Given the description of an element on the screen output the (x, y) to click on. 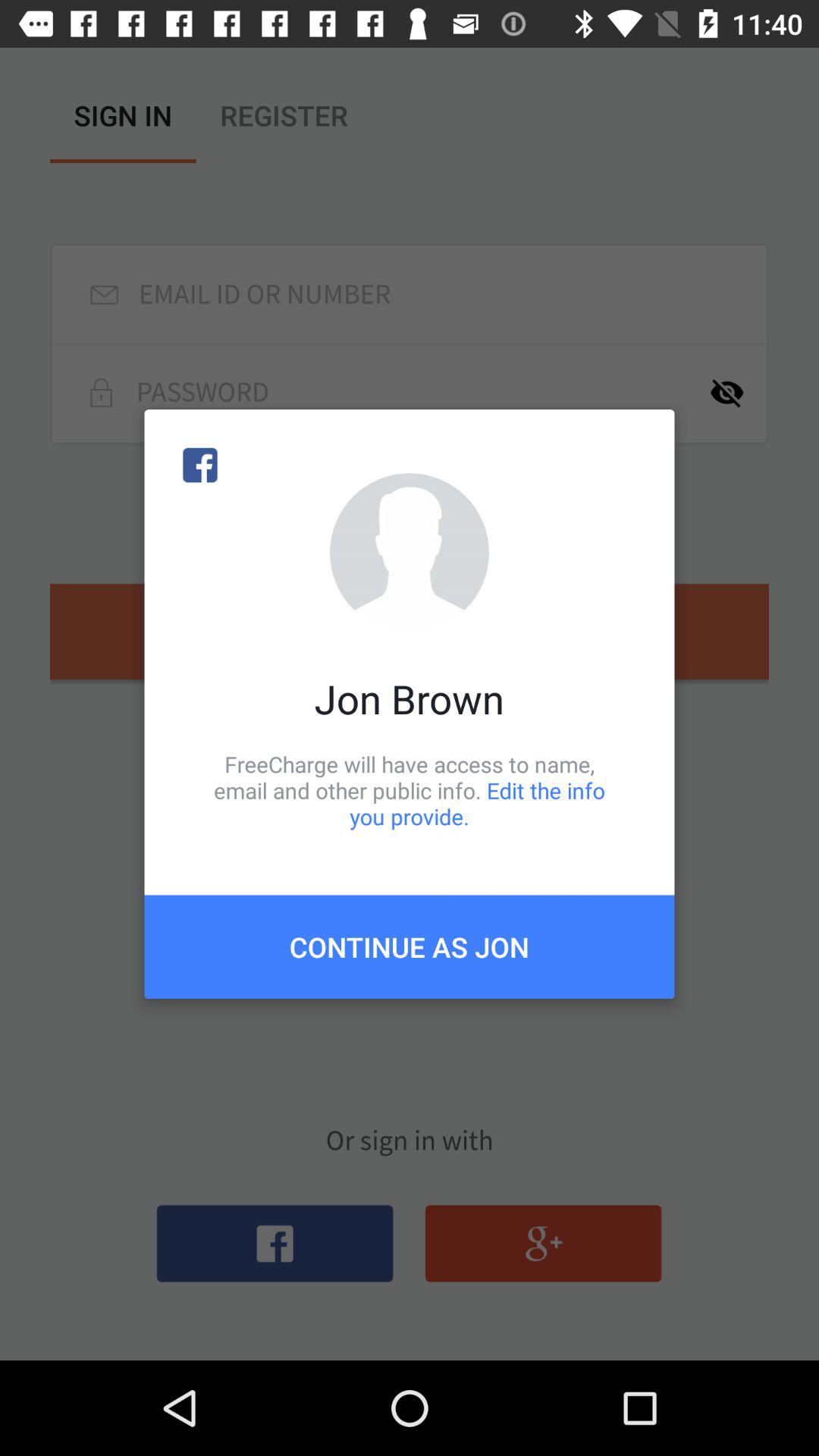
select the icon below the jon brown icon (409, 790)
